Given the description of an element on the screen output the (x, y) to click on. 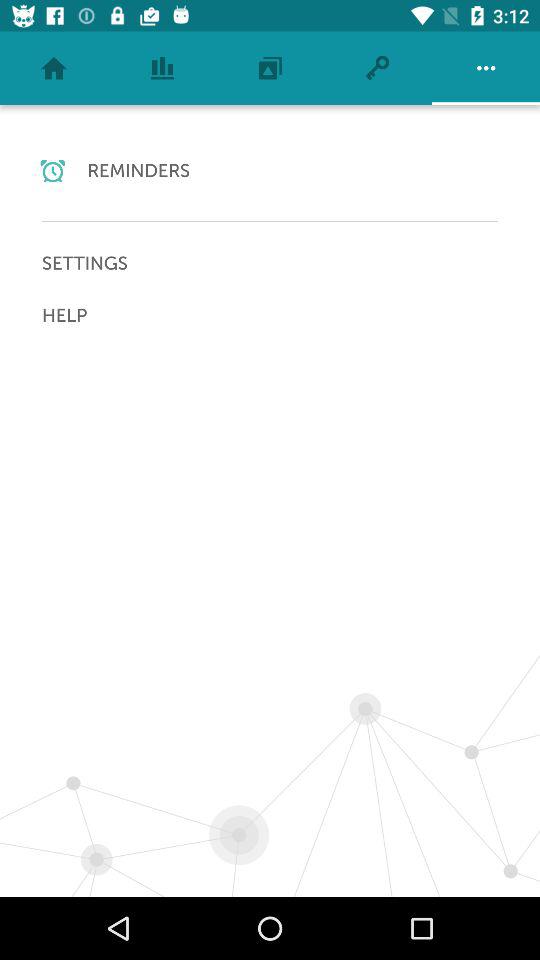
jump to the help item (270, 315)
